Given the description of an element on the screen output the (x, y) to click on. 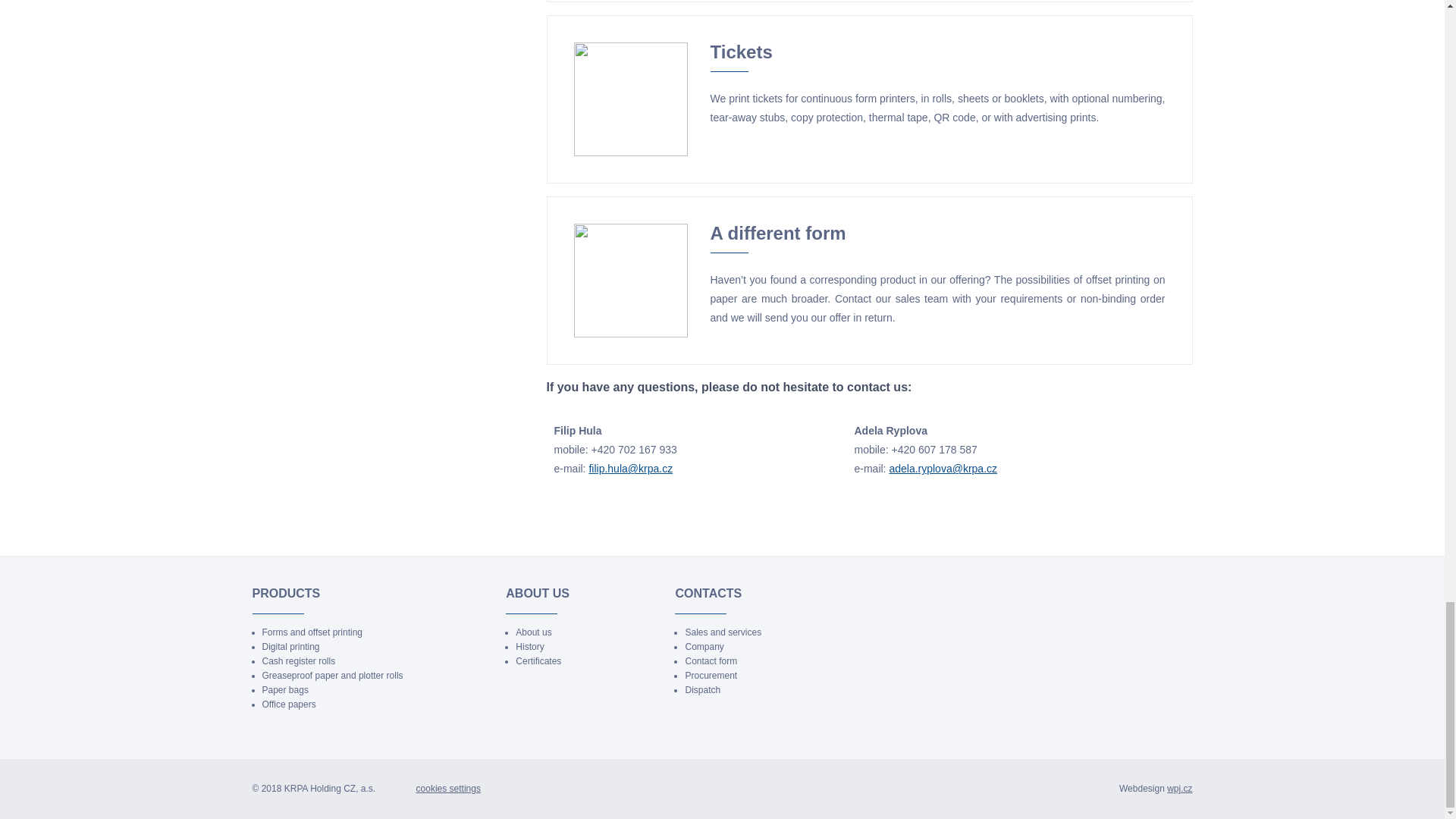
Cash register rolls (299, 661)
Digital printing (291, 646)
Forms and offset printing (312, 632)
Contact our sales team (890, 298)
